Given the description of an element on the screen output the (x, y) to click on. 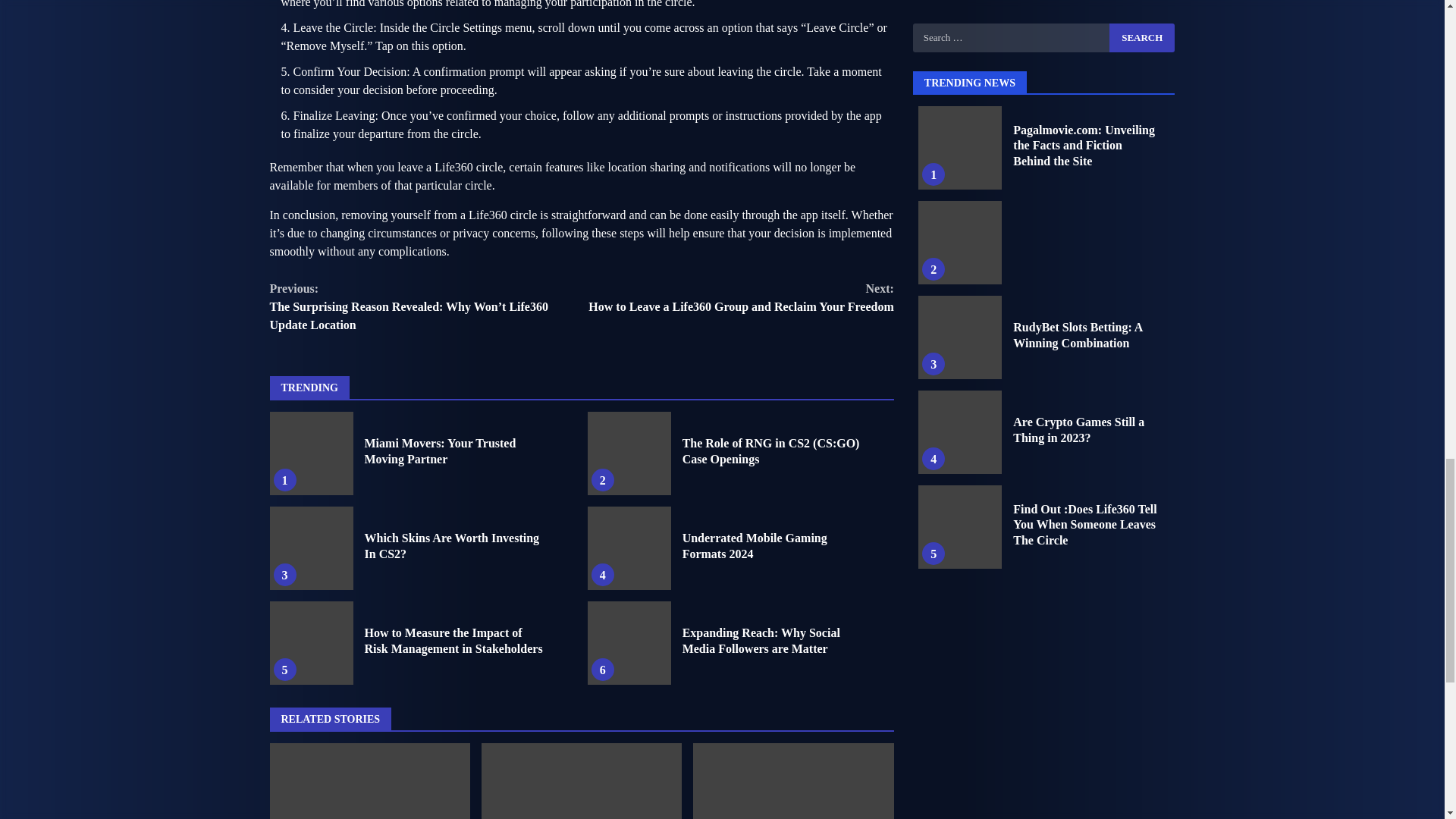
Which Skins Are Worth Investing In CS2? (311, 547)
Underrated Mobile Gaming Formats 2024 (754, 545)
Expanding Reach: Why Social Media Followers are Matter (629, 642)
How to Measure the Impact of Risk Management in Stakeholders (311, 642)
Which Skins Are Worth Investing In CS2? (736, 298)
Miami Movers: Your Trusted Moving Partner (451, 545)
Underrated Mobile Gaming Formats 2024 (439, 451)
Miami Movers: Your Trusted Moving Partner (629, 547)
How to Measure the Impact of Risk Management in Stakeholders (311, 453)
